Given the description of an element on the screen output the (x, y) to click on. 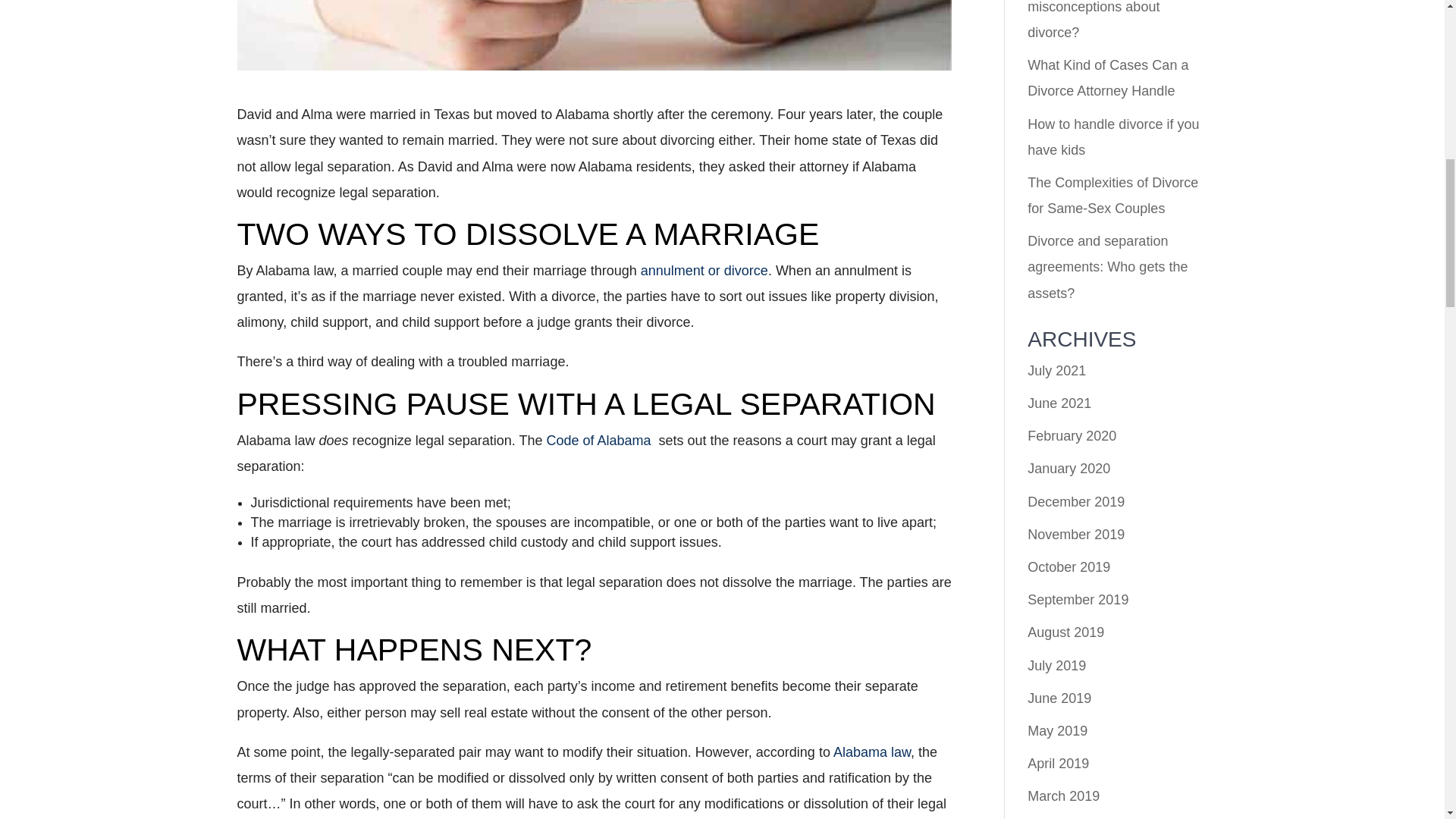
Code of Alabama  (599, 440)
Alabama law (871, 752)
annulment or divorce (704, 270)
